Given the description of an element on the screen output the (x, y) to click on. 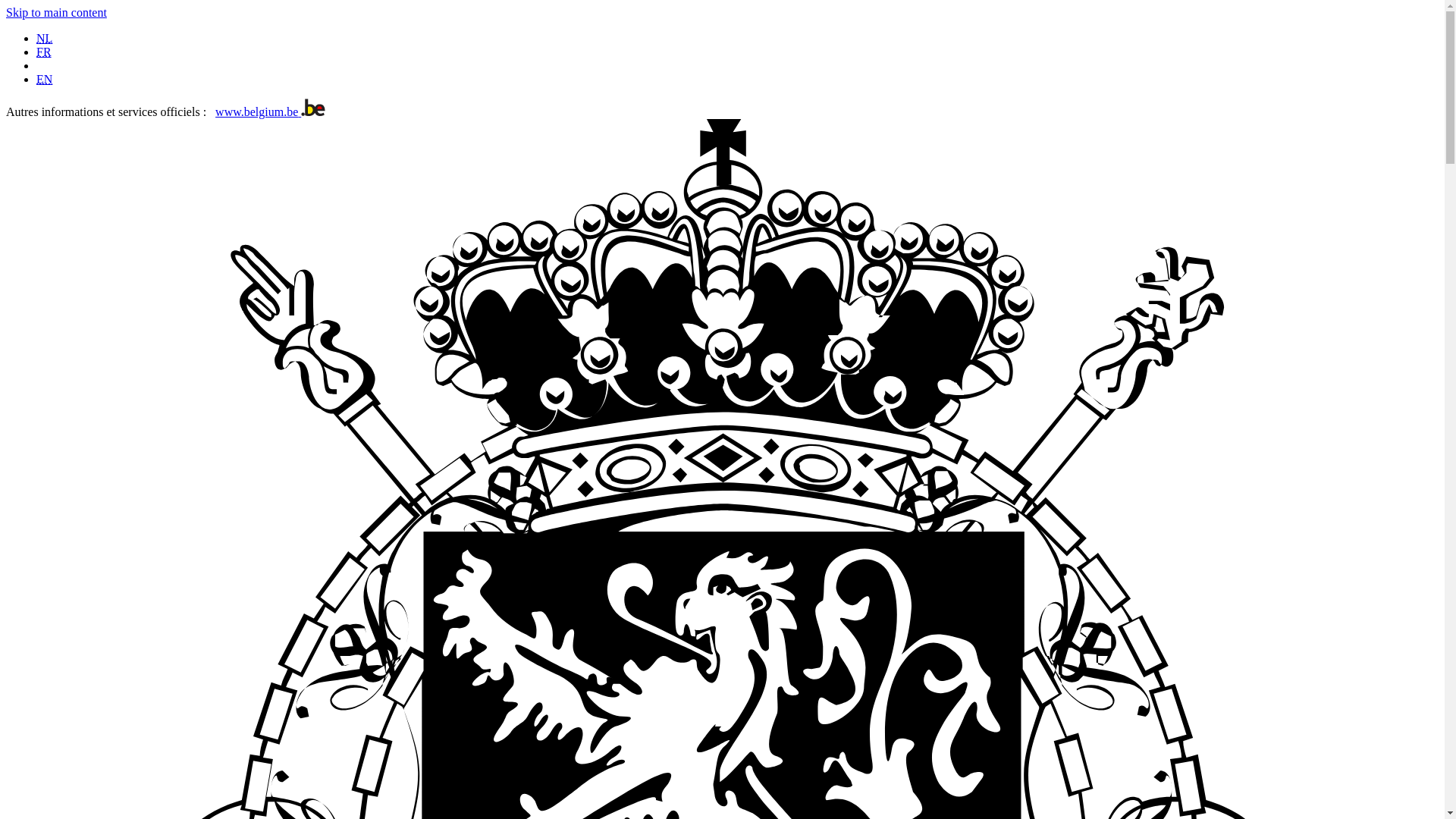
Skip to main content Element type: text (56, 12)
www.belgium.be Element type: text (270, 111)
NL Element type: text (44, 37)
EN Element type: text (44, 78)
FR Element type: text (43, 51)
